Given the description of an element on the screen output the (x, y) to click on. 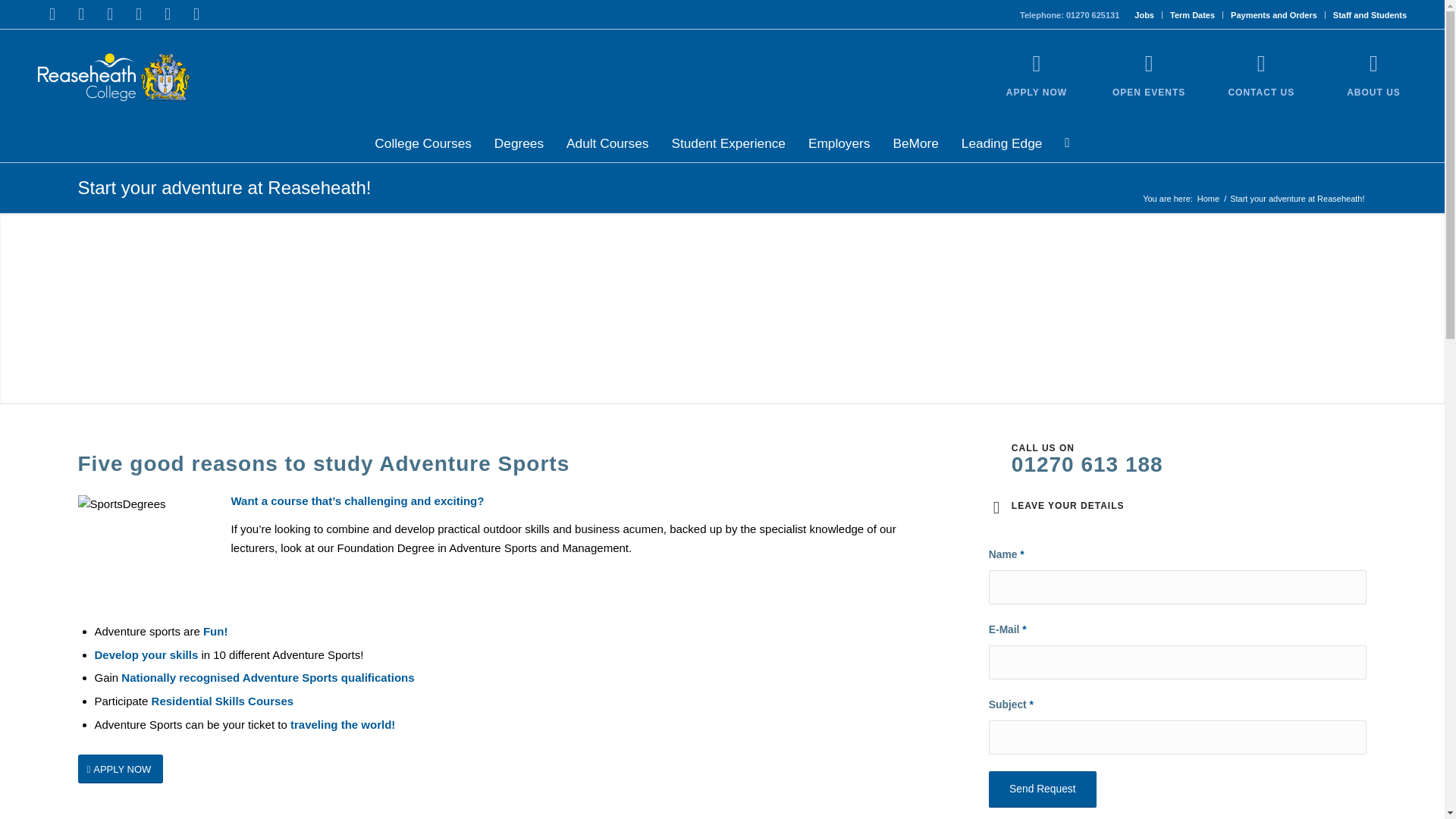
Facebook (51, 14)
Send Request (1042, 789)
Contact Us (1260, 63)
Employers (838, 143)
X (81, 14)
Apply Now (1036, 63)
Contact Us (1260, 91)
BeMore (914, 143)
Degrees (518, 143)
APPLY NOW (1036, 91)
